Given the description of an element on the screen output the (x, y) to click on. 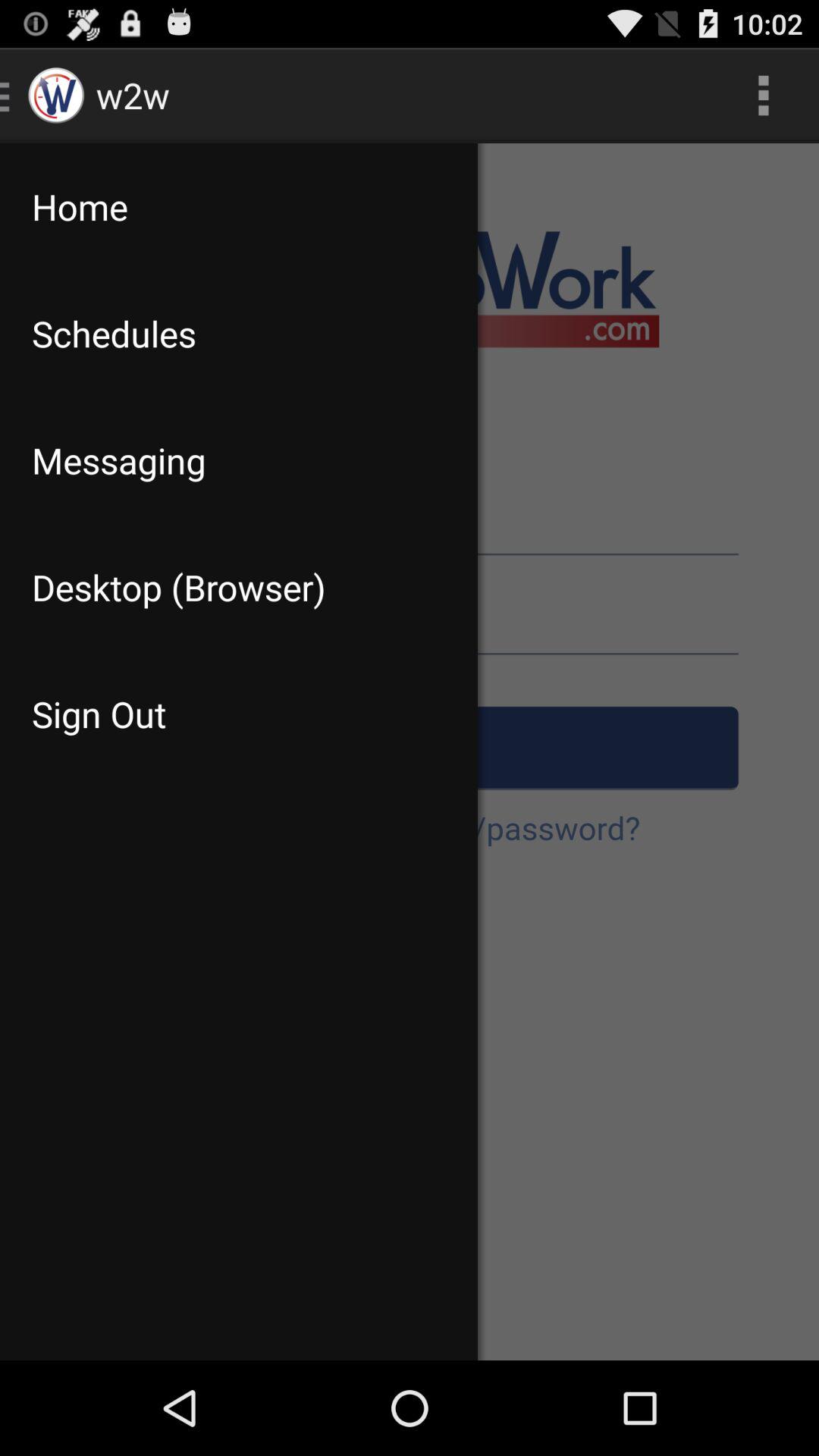
scroll to sign out item (238, 714)
